Given the description of an element on the screen output the (x, y) to click on. 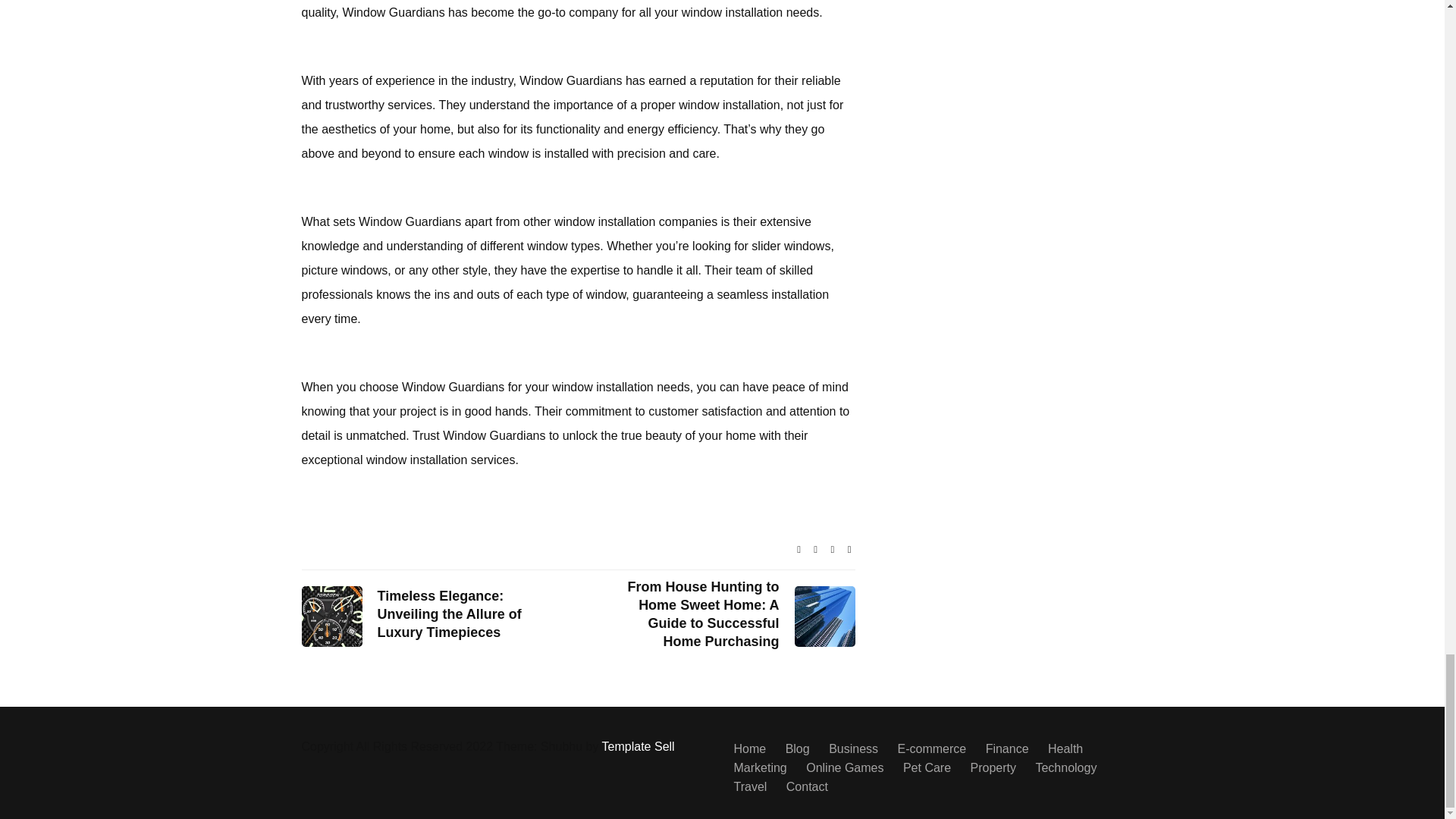
Timeless Elegance: Unveiling the Allure of Luxury Timepieces (457, 614)
